Given the description of an element on the screen output the (x, y) to click on. 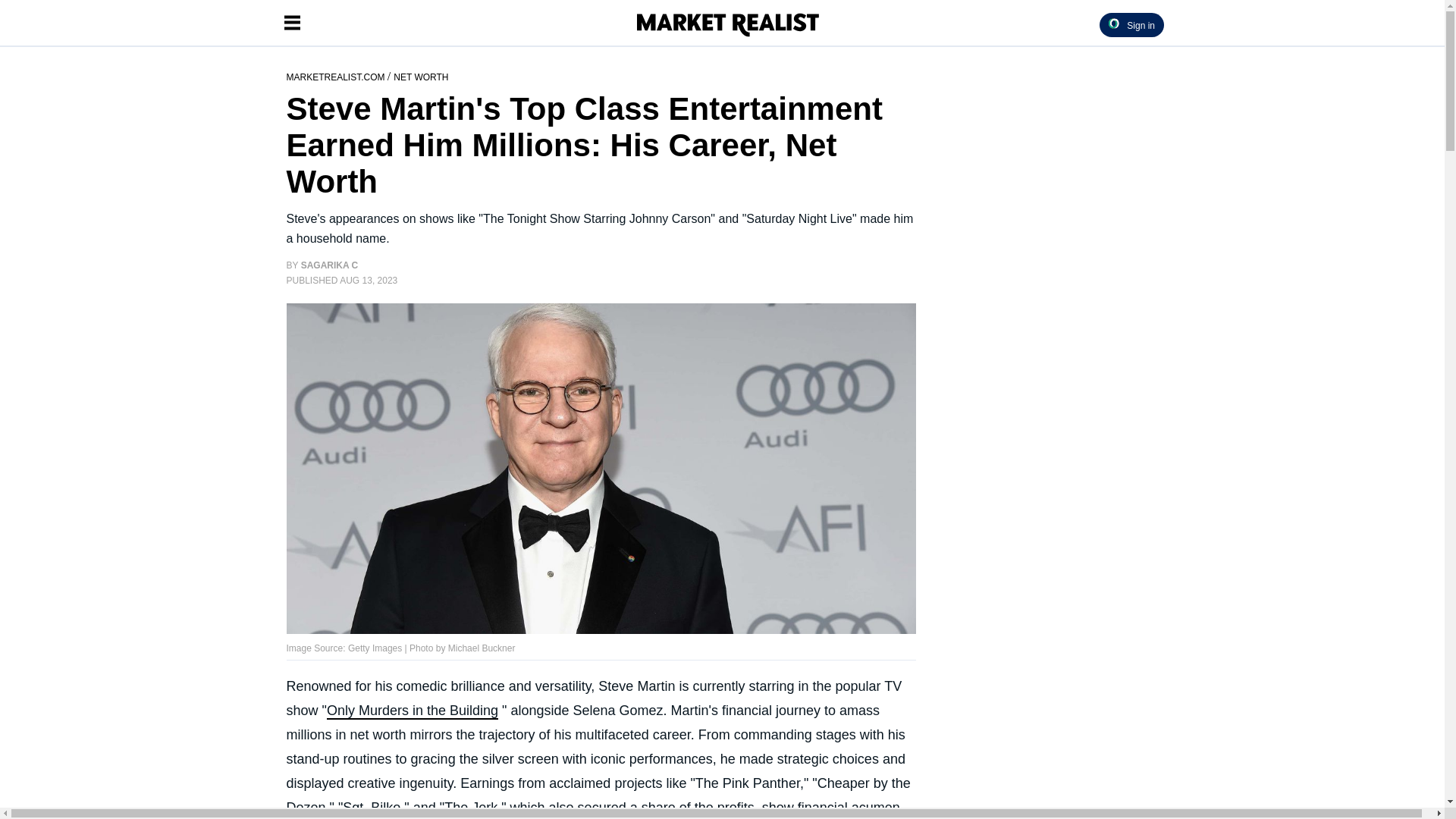
OpenPass Logo (1113, 23)
Sign in (1131, 24)
Only Murders in the Building (411, 710)
MARKETREALIST.COM (336, 75)
NET WORTH (420, 75)
SAGARIKA C (329, 265)
